Given the description of an element on the screen output the (x, y) to click on. 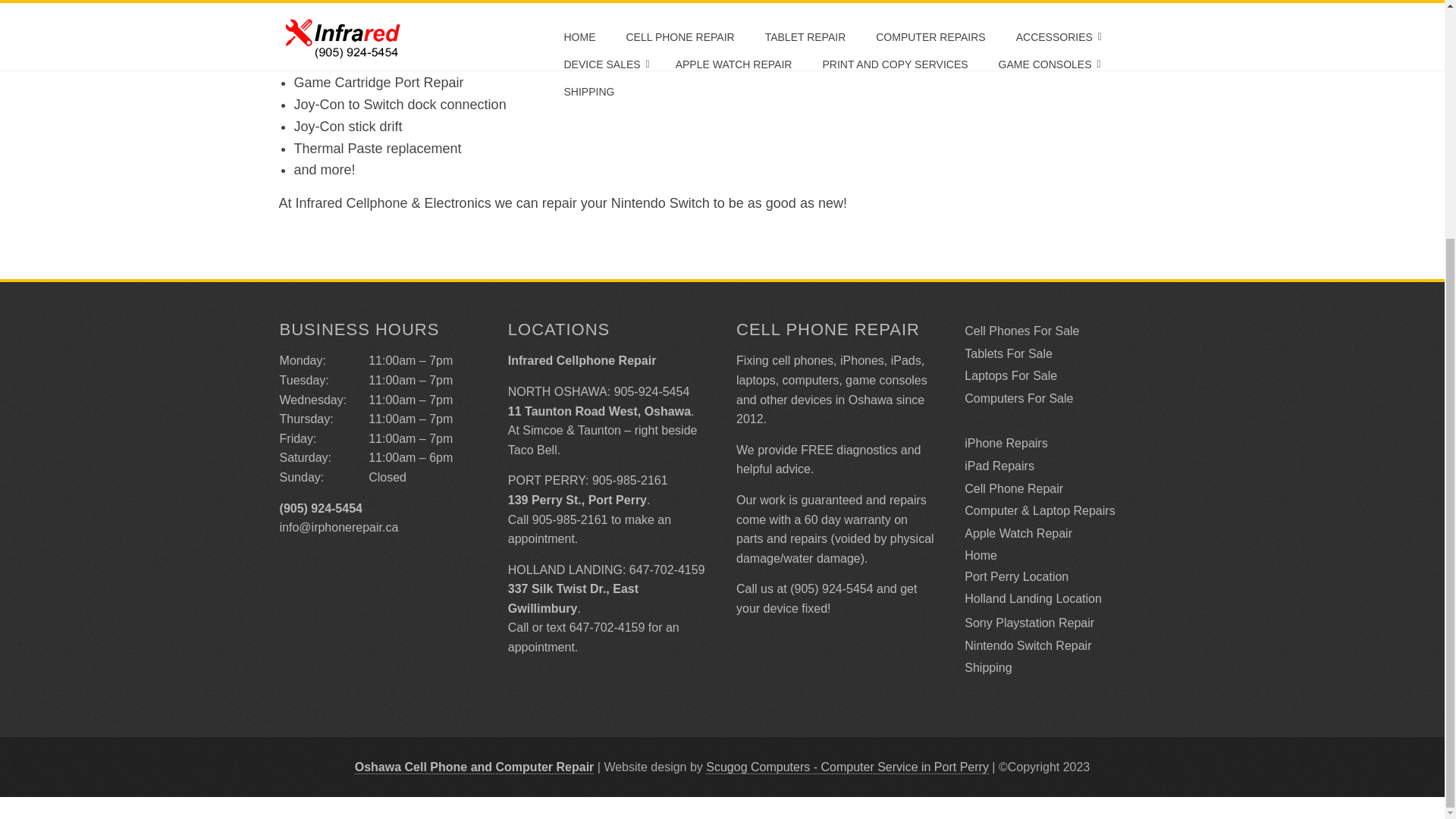
HOLLAND LANDING (565, 569)
Cell Phone Repair (1012, 488)
Home (980, 554)
Cell Phones For Sale (1020, 330)
Laptops For Sale (1010, 375)
Computer Repair in Port Perry (847, 766)
Holland Landing Location (1032, 598)
Computers For Sale (1018, 398)
PORT PERRY (546, 480)
Sony Playstation Repair (1028, 622)
iPad Repairs (998, 465)
Tablets For Sale (1007, 353)
NORTH OSHAWA (557, 391)
Apple Watch Repair (1017, 533)
iPhone Repairs (1004, 442)
